Given the description of an element on the screen output the (x, y) to click on. 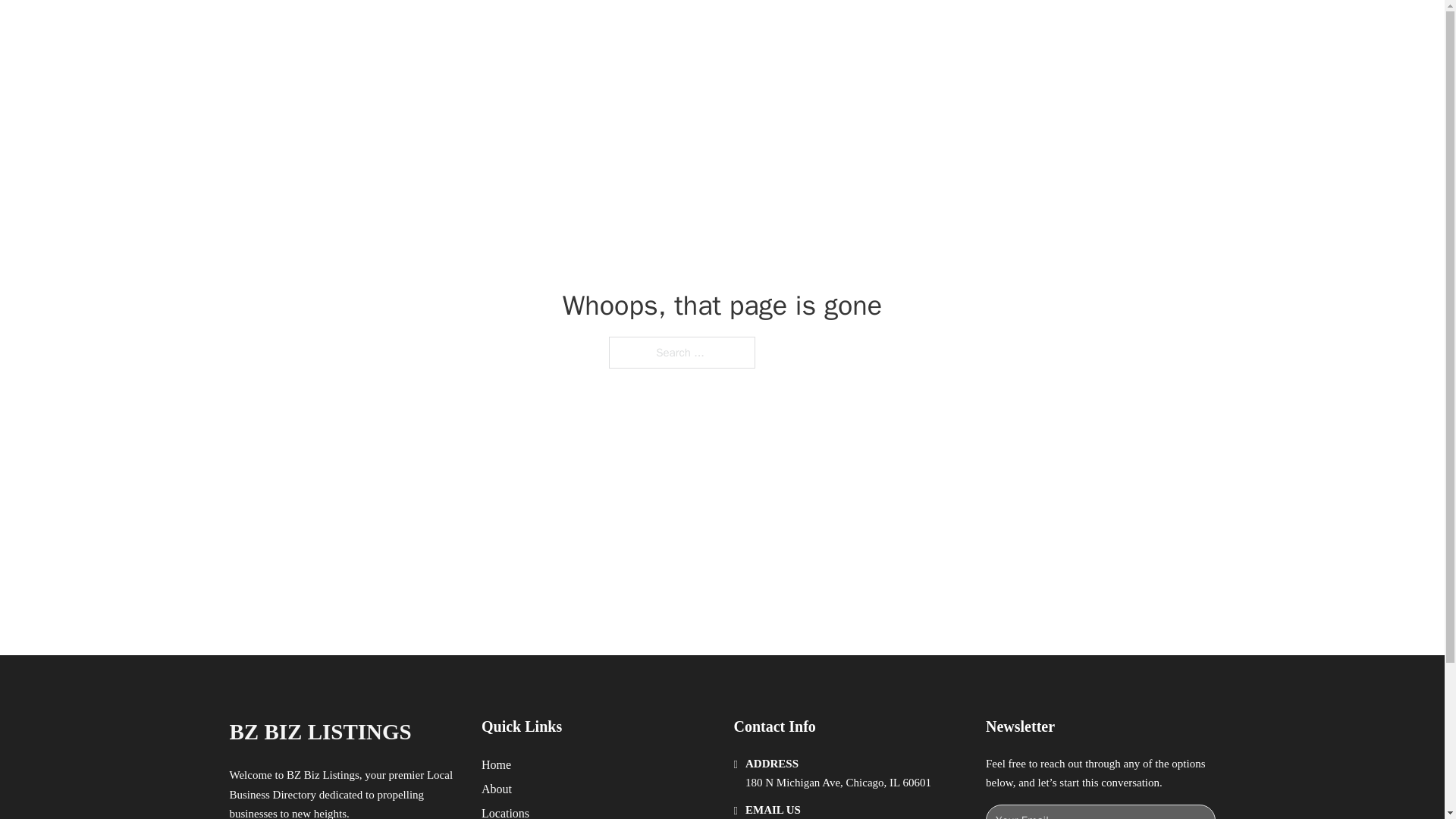
About (496, 788)
Locations (505, 811)
HOME (919, 29)
LOCATIONS (990, 29)
BZ BIZ LISTINGS (319, 732)
Home (496, 764)
BZ BIZ LISTINGS (394, 28)
